Given the description of an element on the screen output the (x, y) to click on. 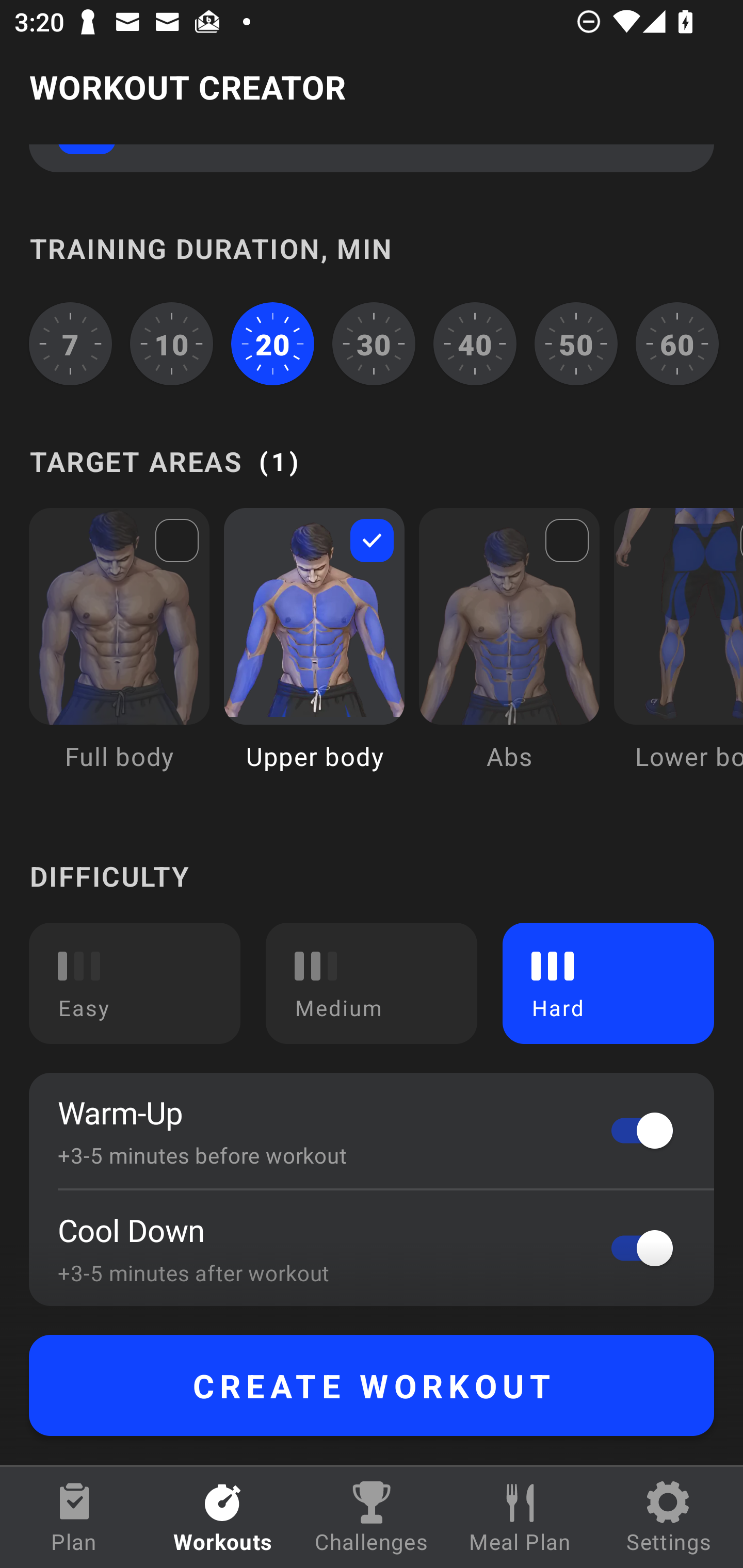
7 (70, 343)
10 (171, 343)
20 (272, 343)
30 (373, 343)
40 (474, 343)
50 (575, 343)
60 (676, 343)
Full body (118, 653)
Abs (509, 653)
Lower body (678, 653)
Easy (134, 982)
Medium (371, 982)
CREATE WORKOUT (371, 1385)
 Plan  (74, 1517)
 Challenges  (371, 1517)
 Meal Plan  (519, 1517)
 Settings  (668, 1517)
